Given the description of an element on the screen output the (x, y) to click on. 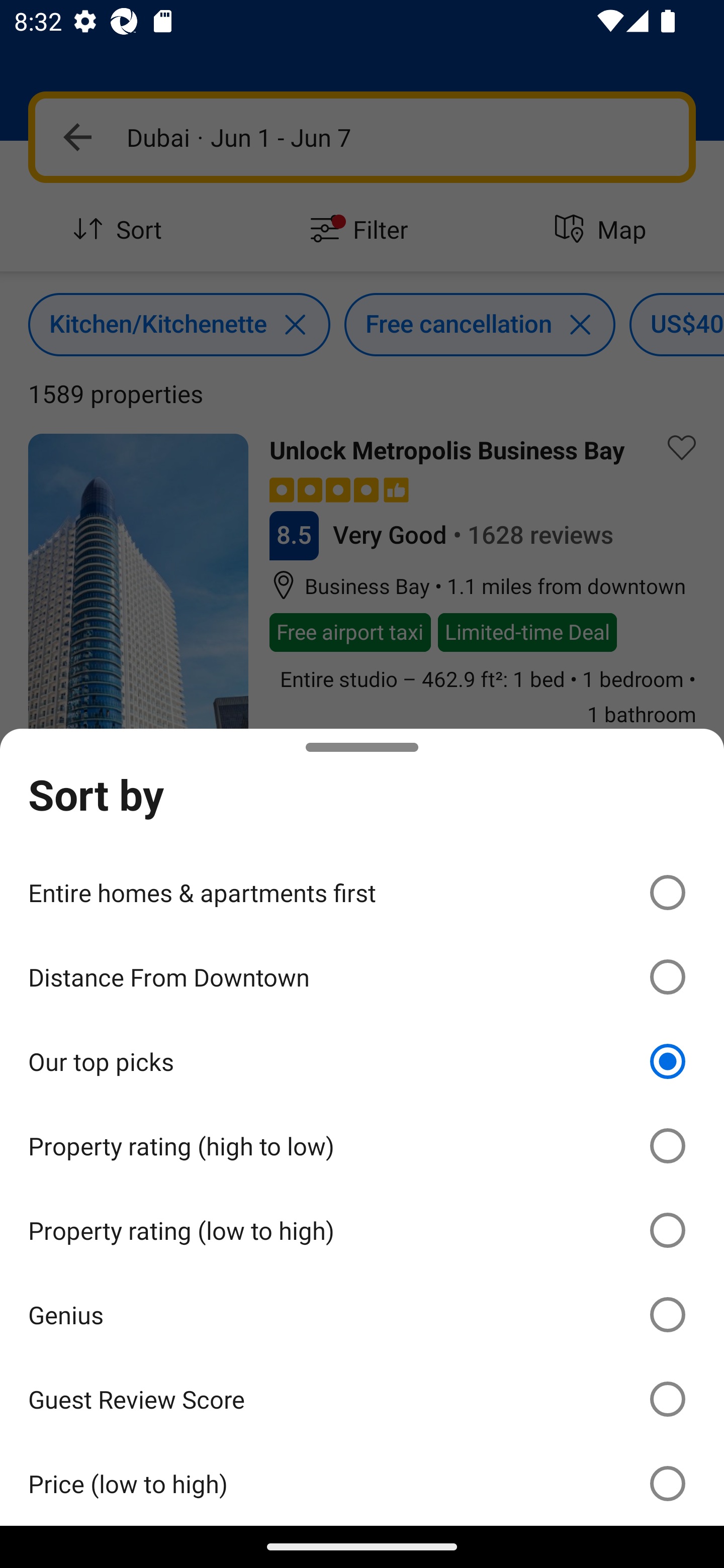
Entire homes & apartments first (362, 891)
Distance From Downtown (362, 976)
Our top picks (362, 1061)
Property rating (high to low) (362, 1145)
Property rating (low to high) (362, 1230)
Genius (362, 1314)
Guest Review Score (362, 1398)
Price (low to high) (362, 1482)
